Given the description of an element on the screen output the (x, y) to click on. 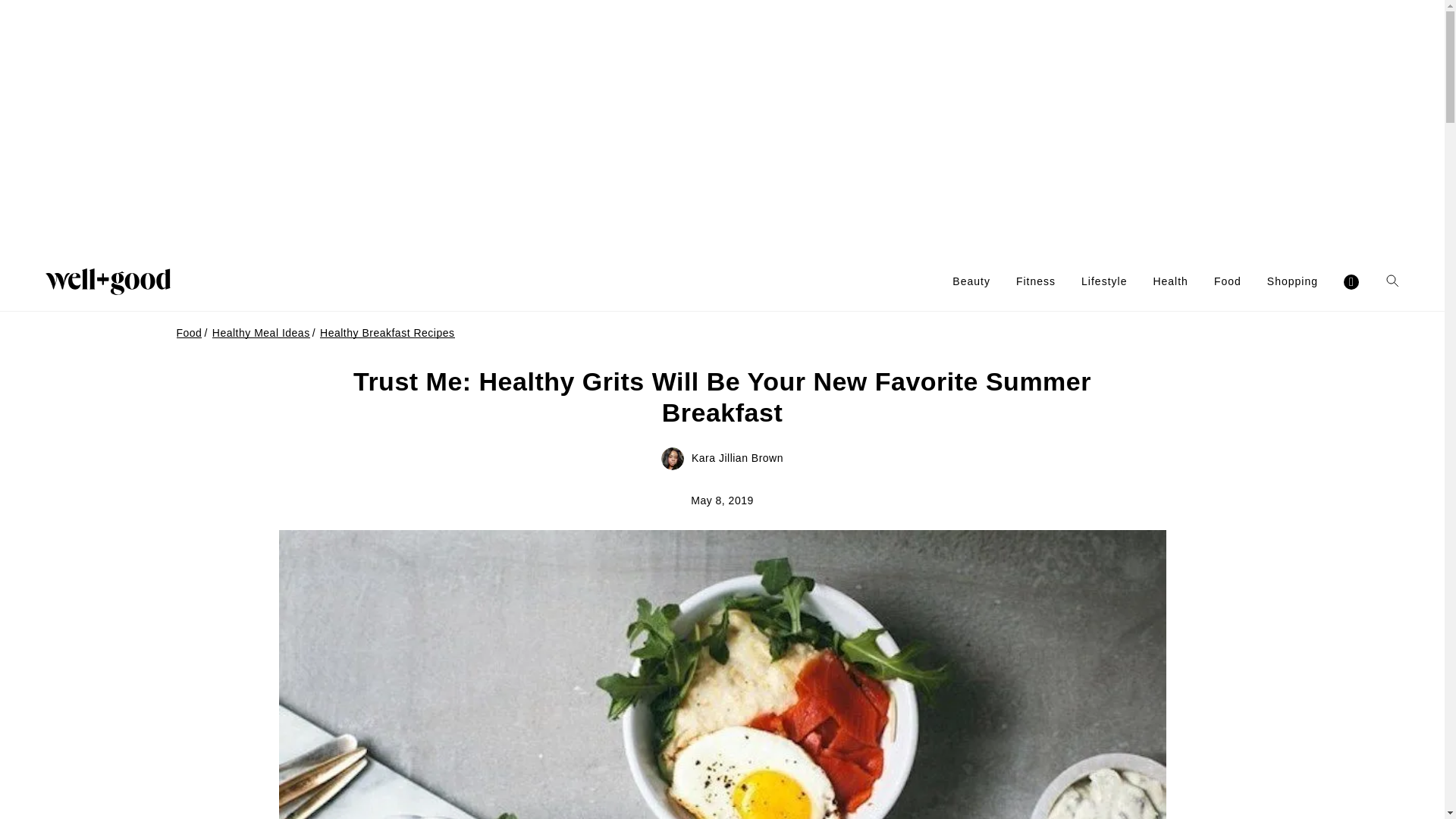
Beauty (971, 281)
Food (1227, 281)
Health (1170, 281)
Lifestyle (1103, 281)
Fitness (1035, 281)
Shopping (1291, 281)
